Given the description of an element on the screen output the (x, y) to click on. 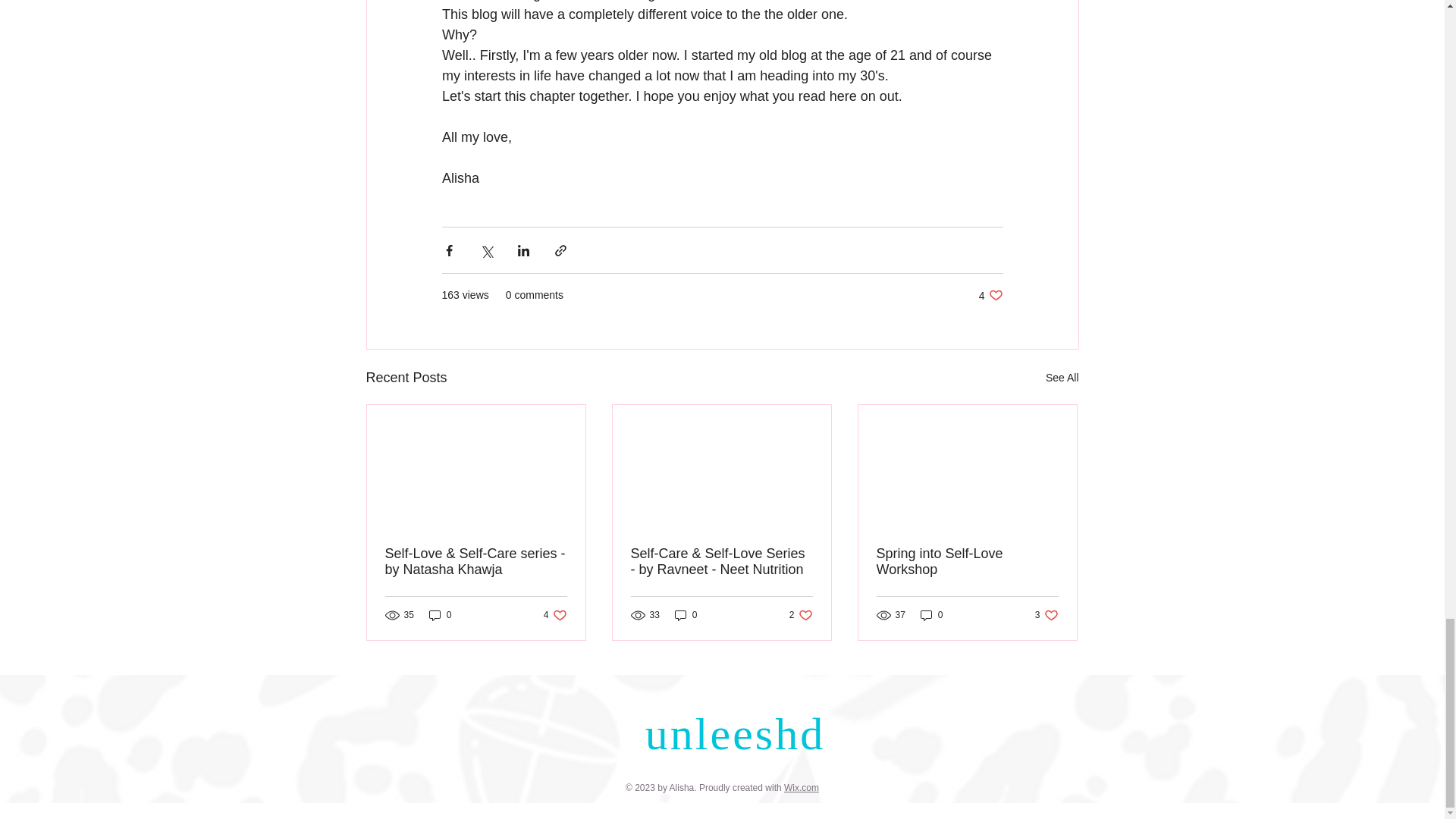
0 (440, 615)
See All (800, 615)
0 (1061, 377)
